Given the description of an element on the screen output the (x, y) to click on. 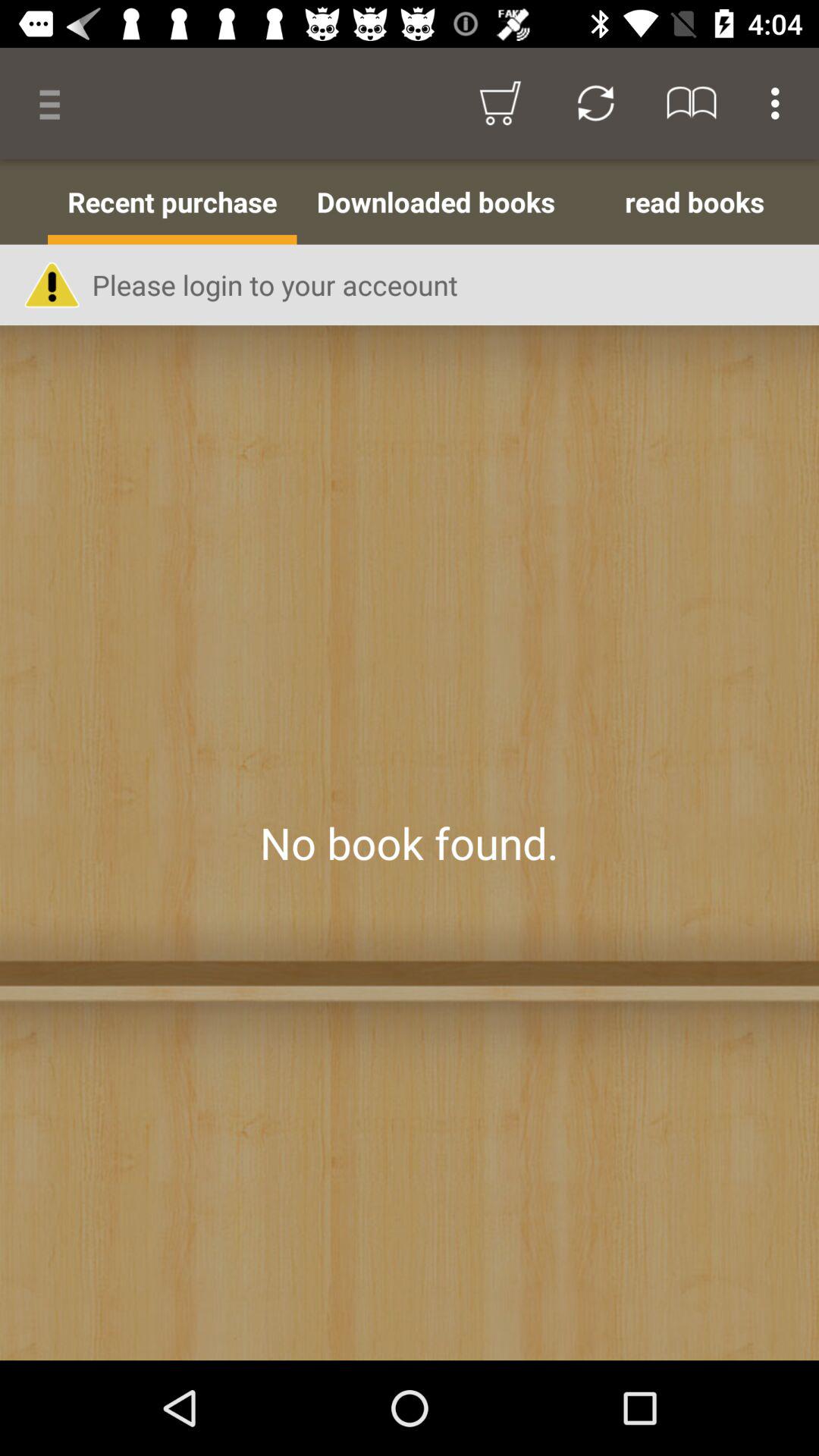
launch icon to the left of the recent purchase item (23, 201)
